Given the description of an element on the screen output the (x, y) to click on. 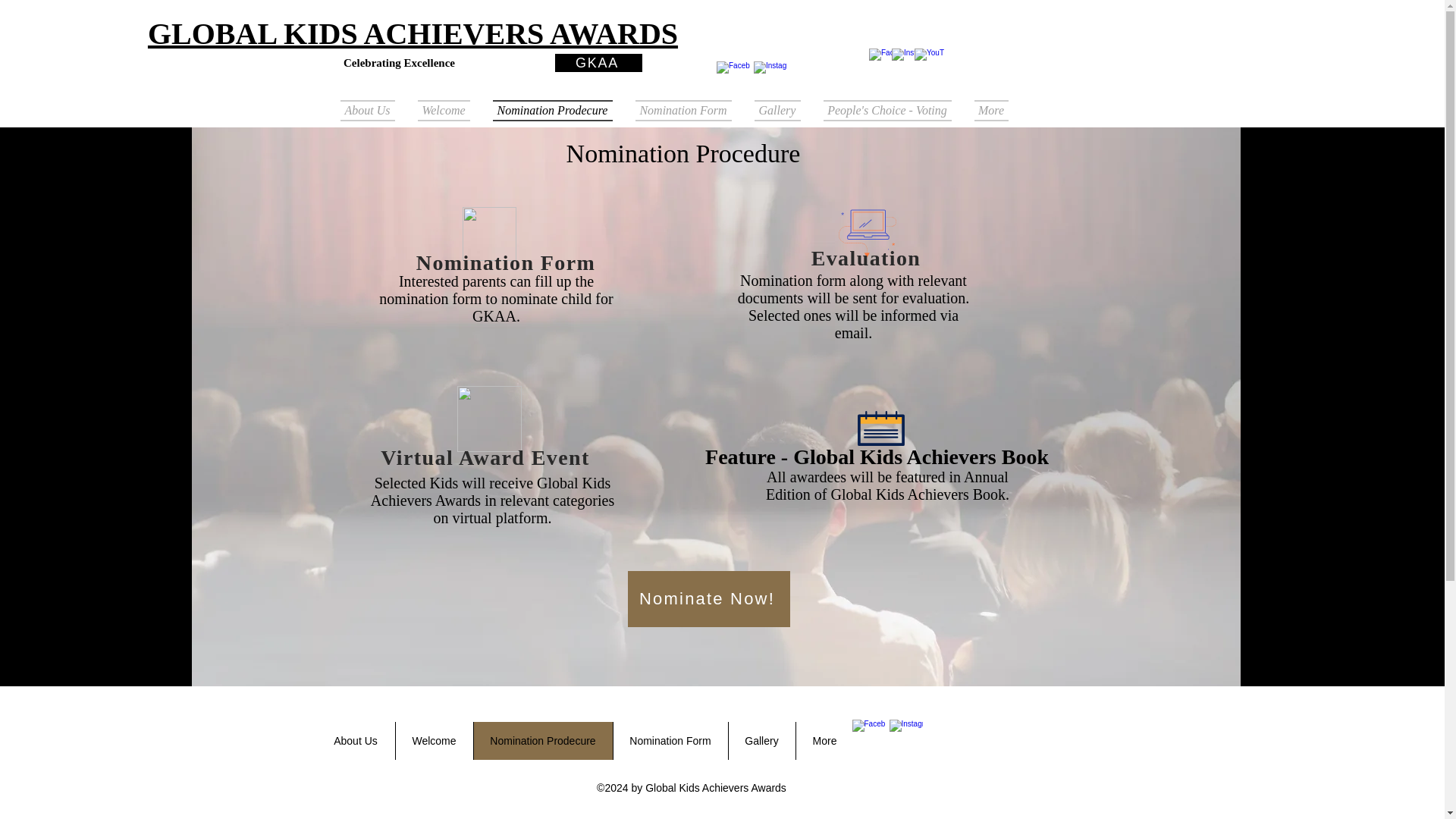
GLOBAL KIDS ACHIEVERS AWARDS (413, 33)
Welcome (443, 110)
People's Choice - Voting (886, 110)
Nomination Prodecure (551, 110)
Welcome (432, 740)
GKAA (598, 63)
About Us (355, 740)
Gallery (761, 740)
About Us (372, 110)
